Given the description of an element on the screen output the (x, y) to click on. 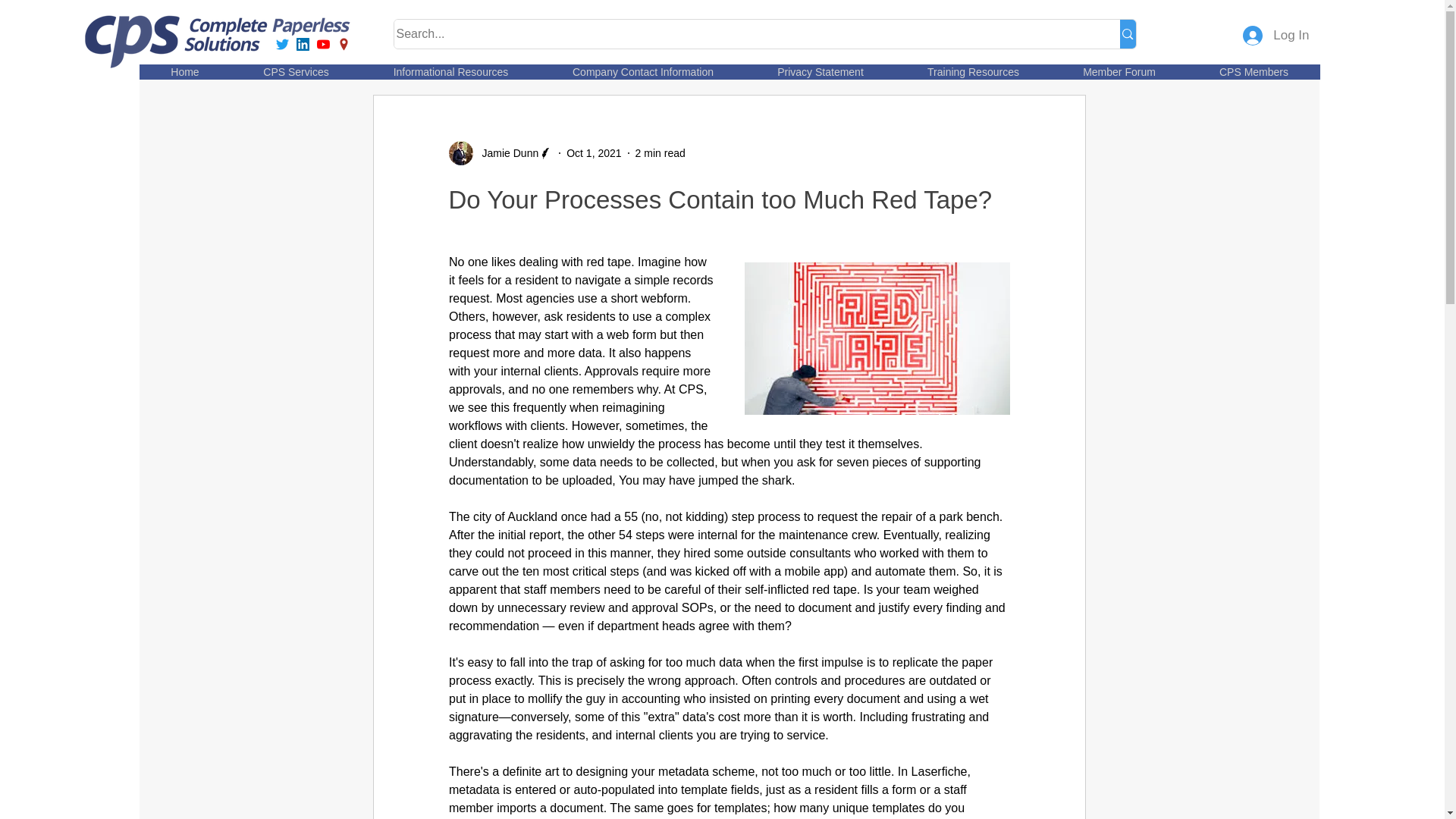
Home (185, 71)
Jamie Dunn (500, 152)
Member Forum (1119, 71)
Privacy Statement (819, 71)
Informational Resources (450, 71)
2 min read (659, 152)
Log In (1275, 35)
CPS Members (1254, 71)
CPS Services (294, 71)
Oct 1, 2021 (593, 152)
Company Contact Information (642, 71)
Training Resources (972, 71)
Jamie Dunn (505, 153)
